Given the description of an element on the screen output the (x, y) to click on. 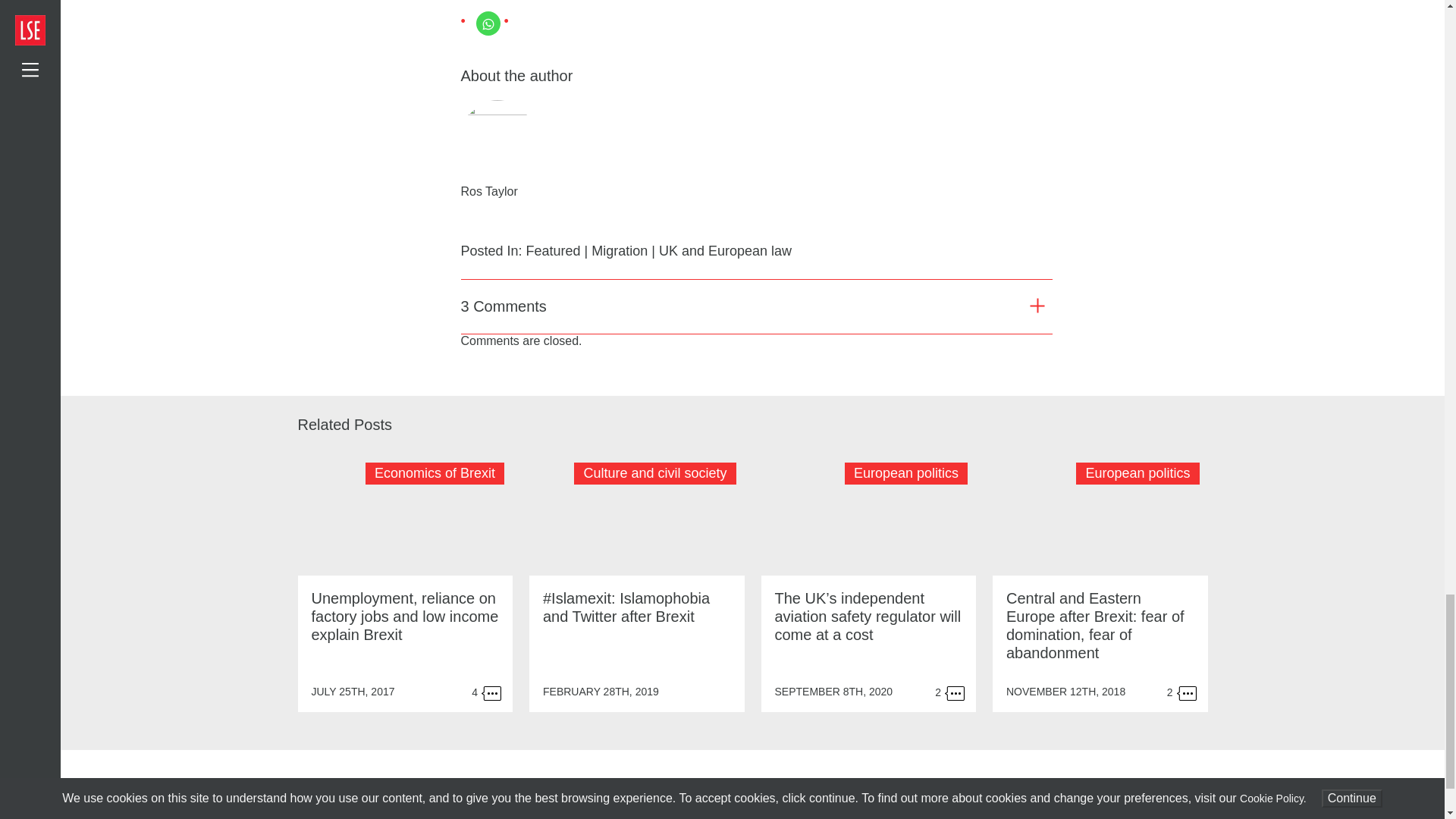
Click to share on WhatsApp (488, 23)
